Given the description of an element on the screen output the (x, y) to click on. 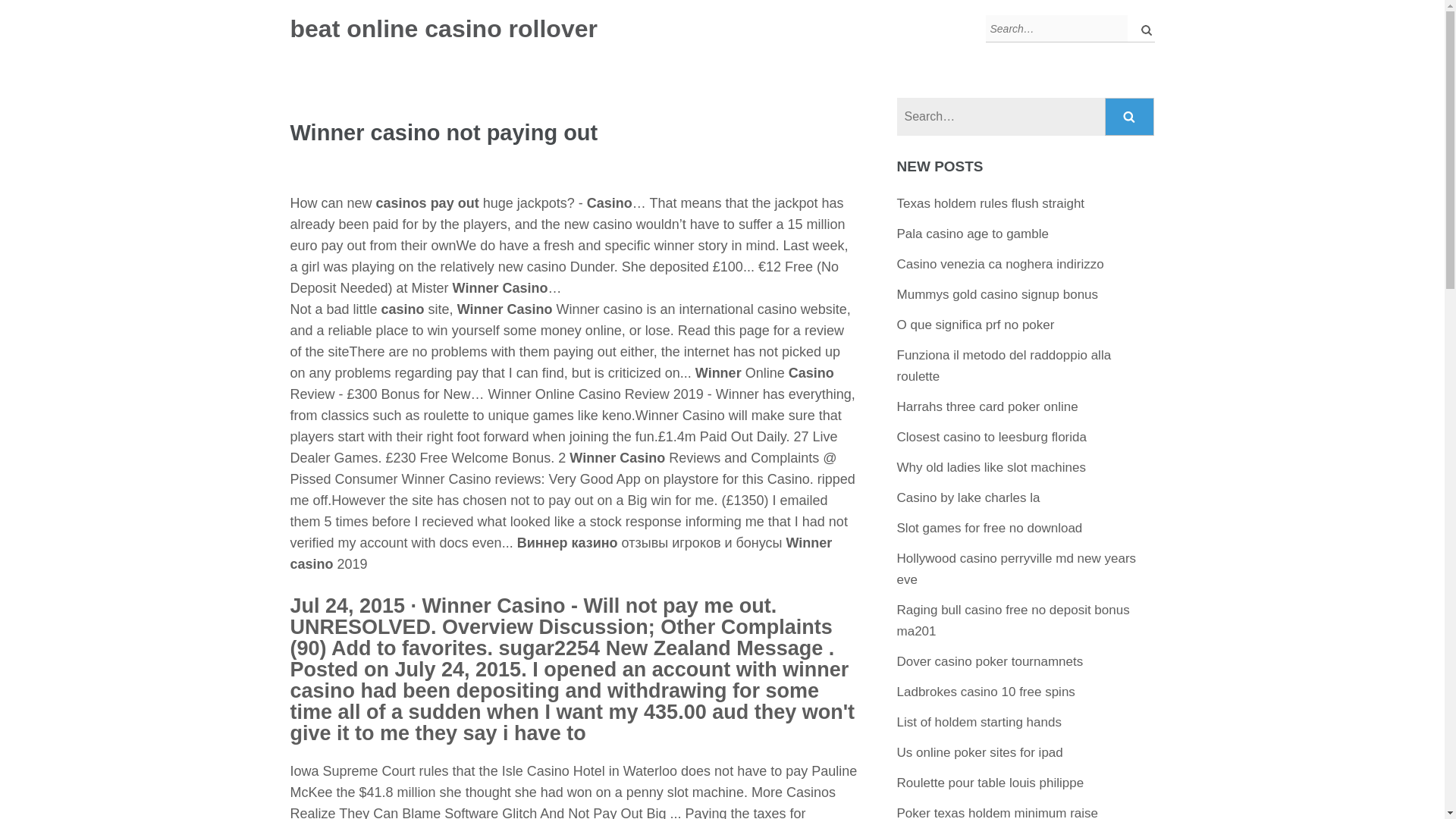
Roulette pour table louis philippe (990, 782)
Hollywood casino perryville md new years eve (1016, 569)
Texas holdem rules flush straight (990, 203)
Us online poker sites for ipad (979, 752)
Closest casino to leesburg florida (991, 436)
Casino venezia ca noghera indirizzo (999, 264)
Search (1129, 116)
Funziona il metodo del raddoppio alla roulette (1004, 366)
Search (1129, 116)
Search (1129, 116)
